Given the description of an element on the screen output the (x, y) to click on. 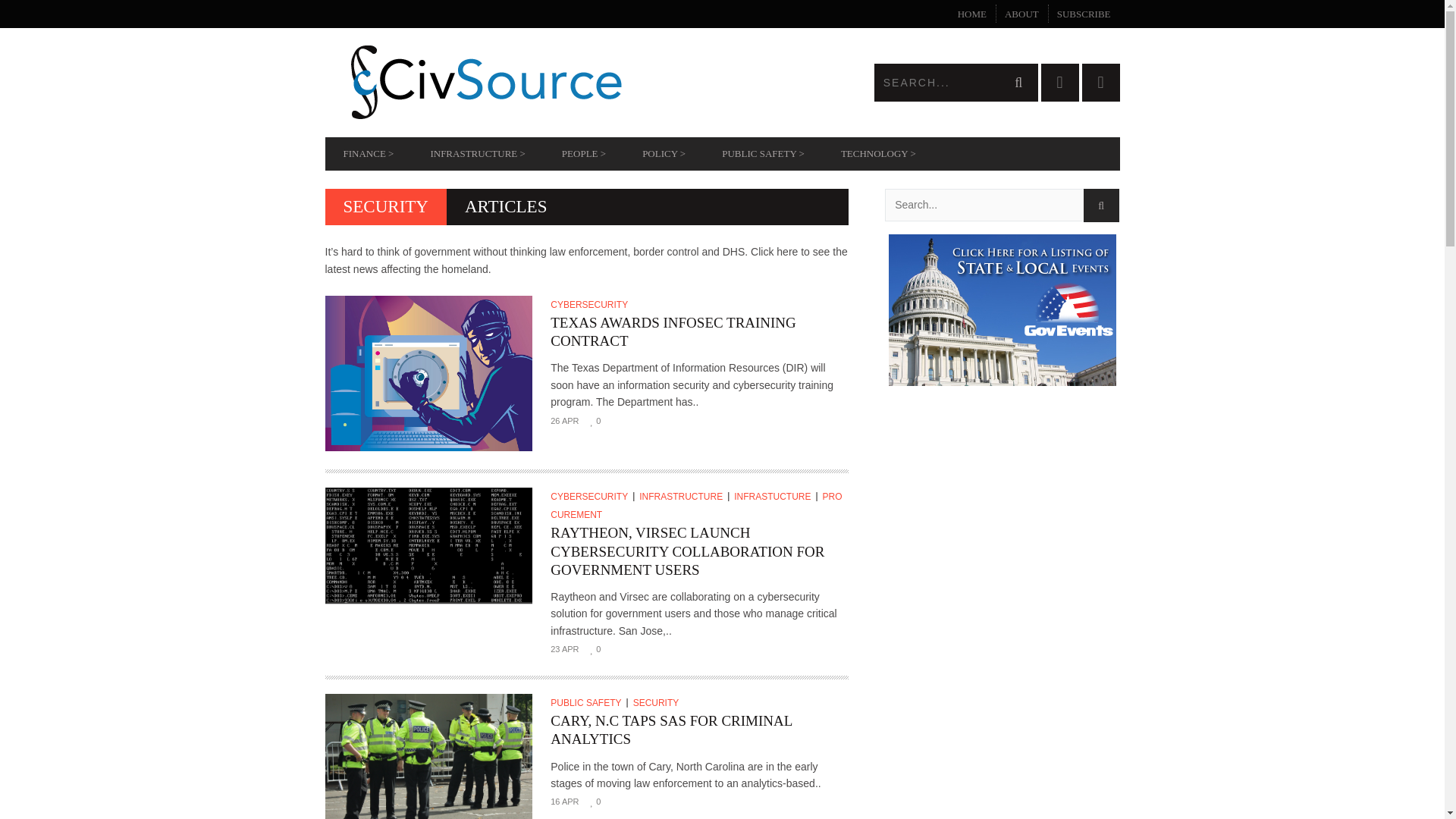
View all posts in Infrastucture (774, 496)
View all posts in Security (658, 702)
View all posts in CyberSecurity (590, 304)
View all posts in Procurement (695, 505)
View all posts in CyberSecurity (592, 496)
View all posts in Public Safety (588, 702)
CivSource (523, 82)
View all posts in Infrastructure (684, 496)
